Given the description of an element on the screen output the (x, y) to click on. 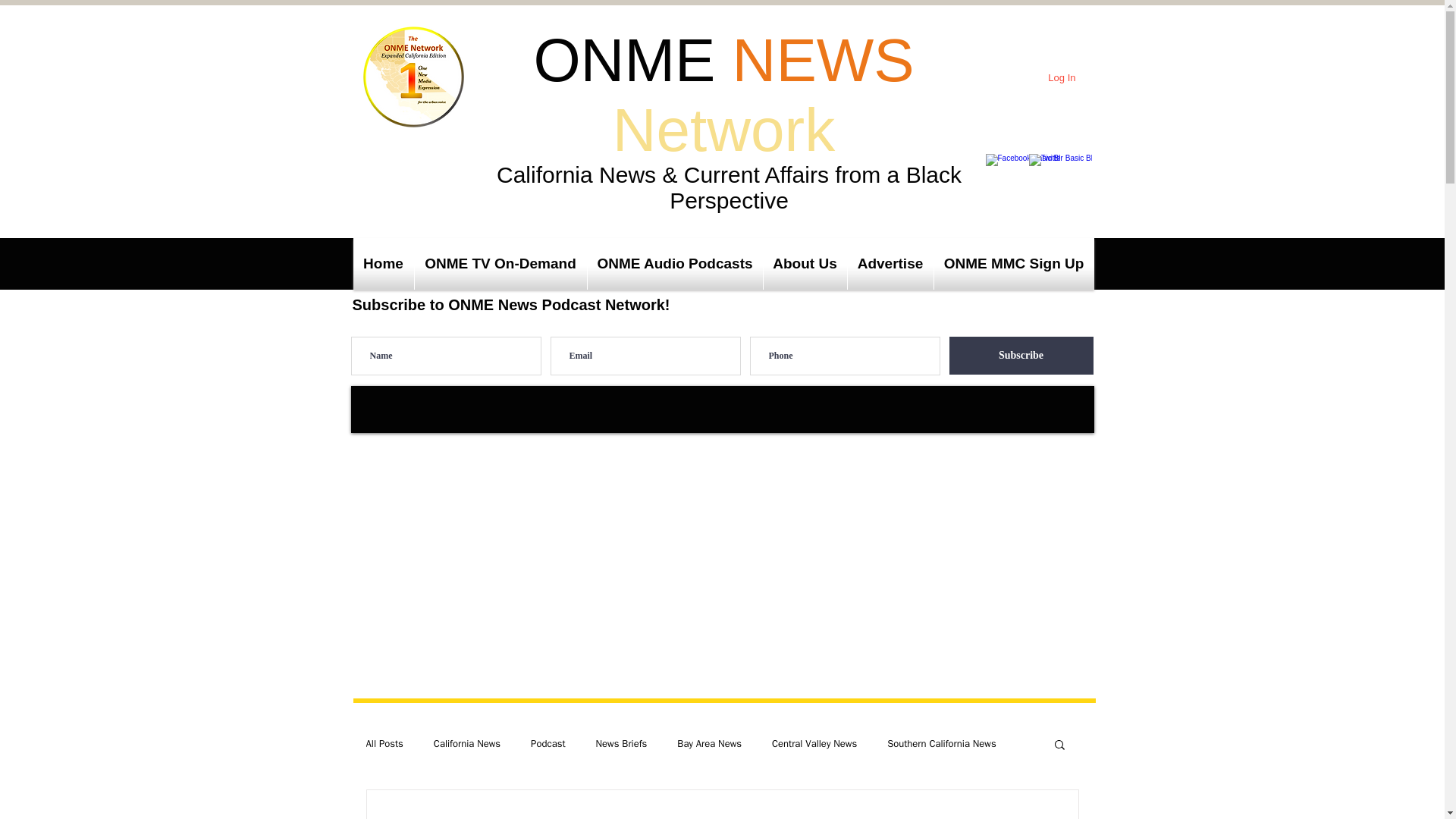
Southern California News (940, 744)
Bay Area News (709, 744)
Central Valley News (814, 744)
About Us (803, 263)
All Posts (384, 744)
Podcast (547, 744)
ONME Audio Podcasts (673, 263)
California News (466, 744)
ONME TV On-Demand (499, 263)
Home (383, 263)
